Given the description of an element on the screen output the (x, y) to click on. 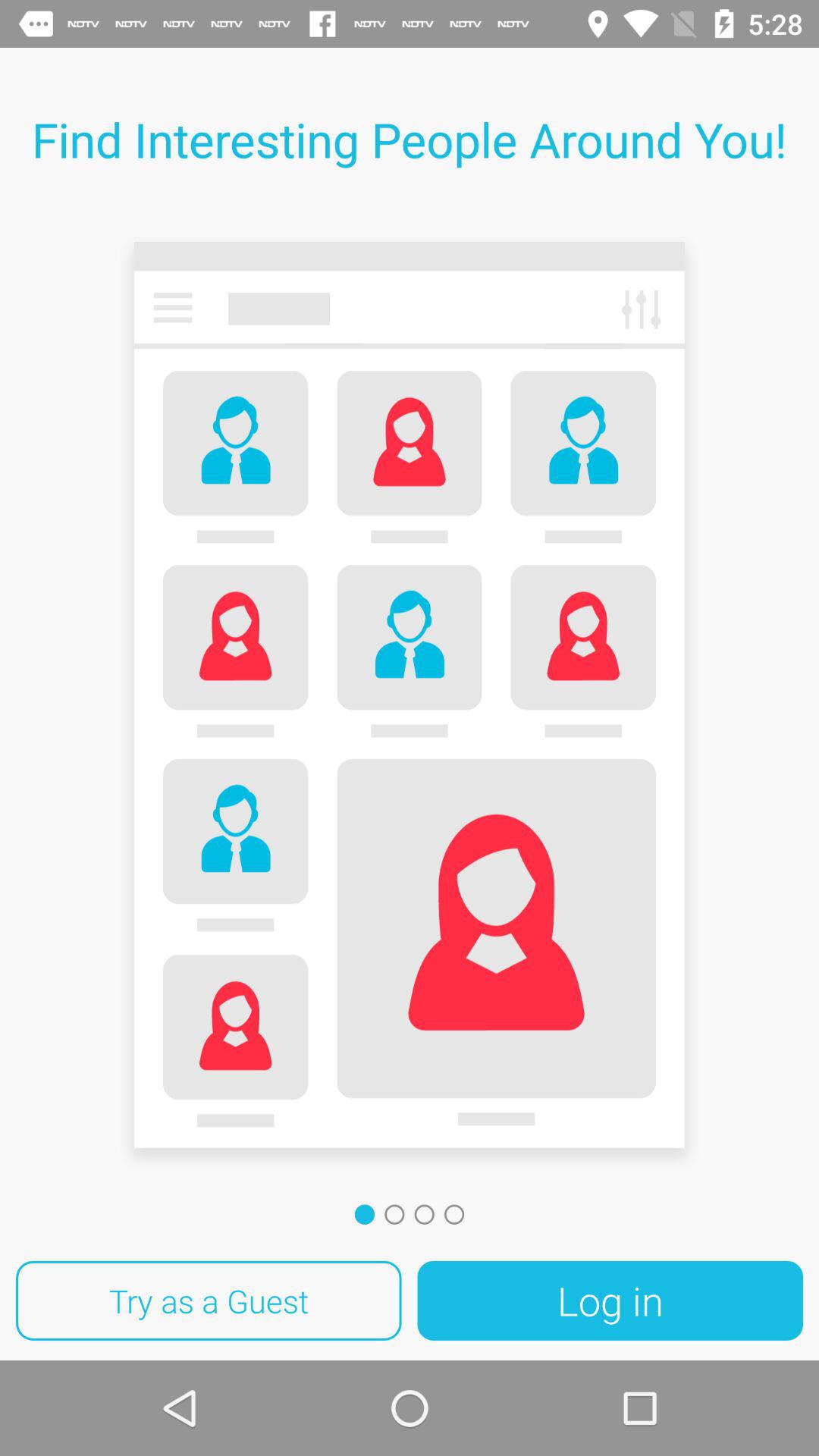
launch the item next to log in item (208, 1300)
